Given the description of an element on the screen output the (x, y) to click on. 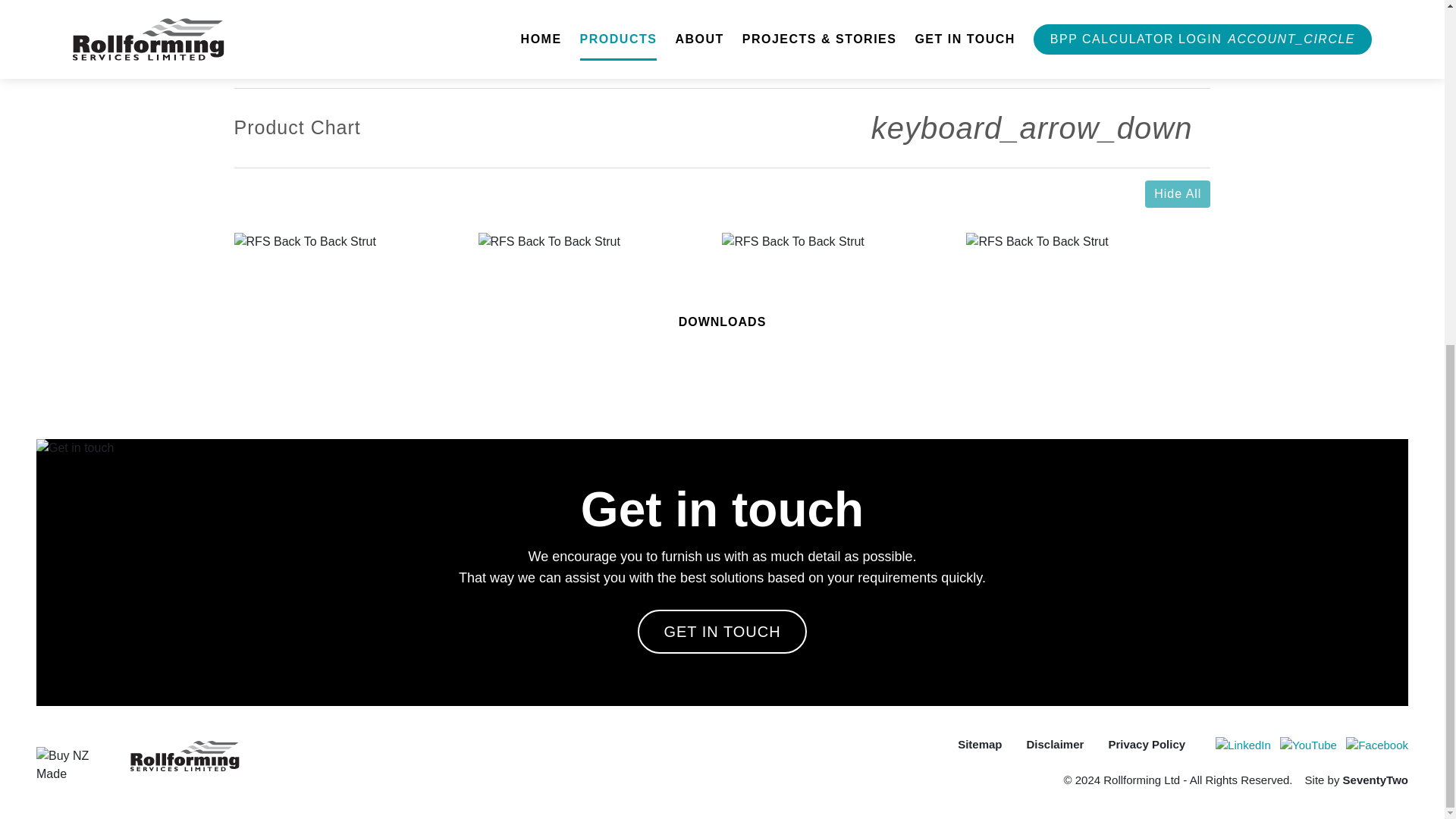
Sitemap (978, 747)
Privacy Policy (1146, 747)
GET IN TOUCH (721, 631)
DOWNLOADS (721, 320)
Disclaimer (1054, 747)
Hide All (1176, 194)
